Given the description of an element on the screen output the (x, y) to click on. 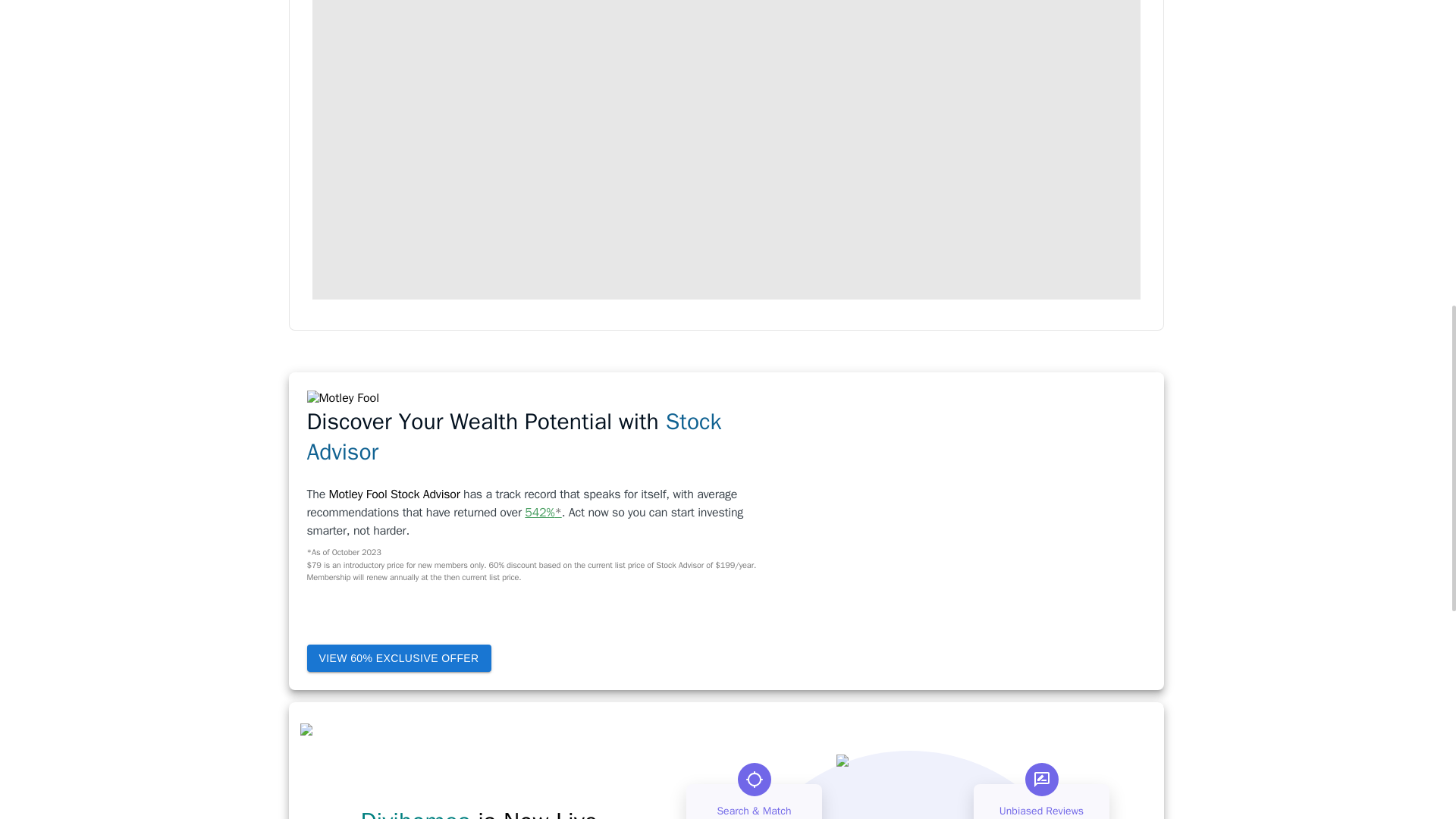
Divihomes (415, 812)
